Given the description of an element on the screen output the (x, y) to click on. 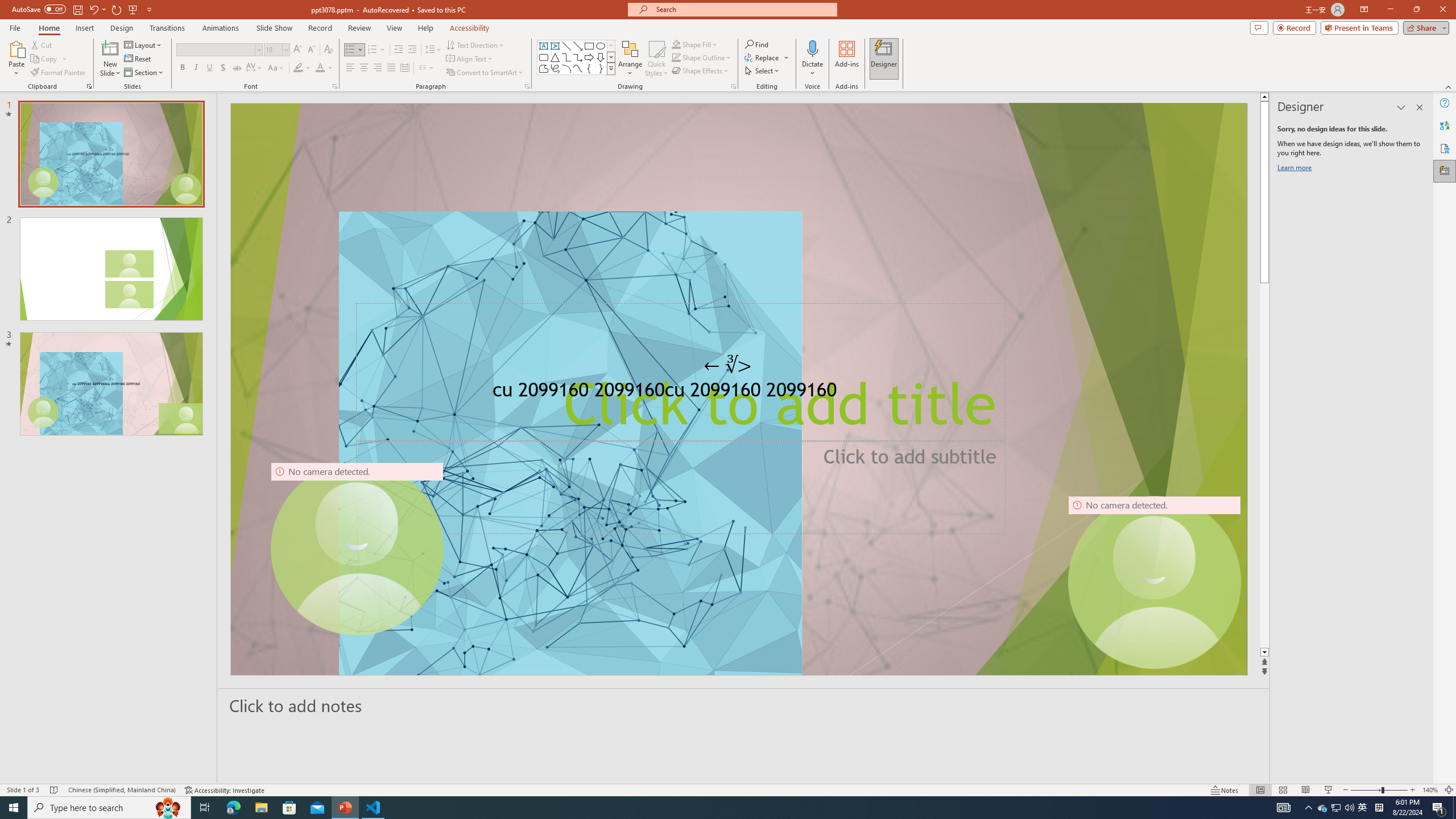
TextBox 7 (727, 365)
